Given the description of an element on the screen output the (x, y) to click on. 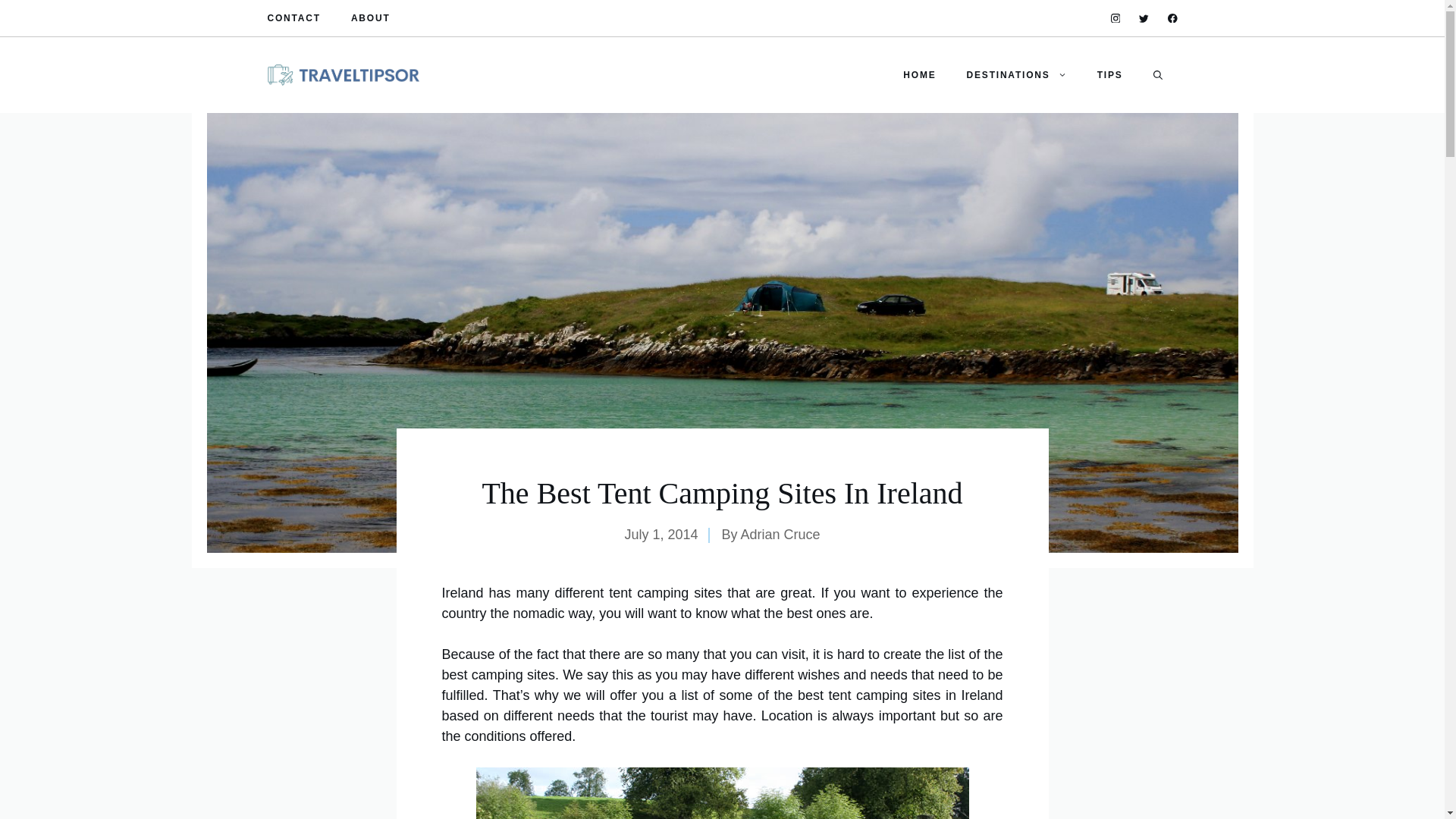
TIPS (1109, 74)
ABOUT (370, 18)
CONTACT (293, 18)
Adrian Cruce (781, 534)
DESTINATIONS (1016, 74)
HOME (919, 74)
